Given the description of an element on the screen output the (x, y) to click on. 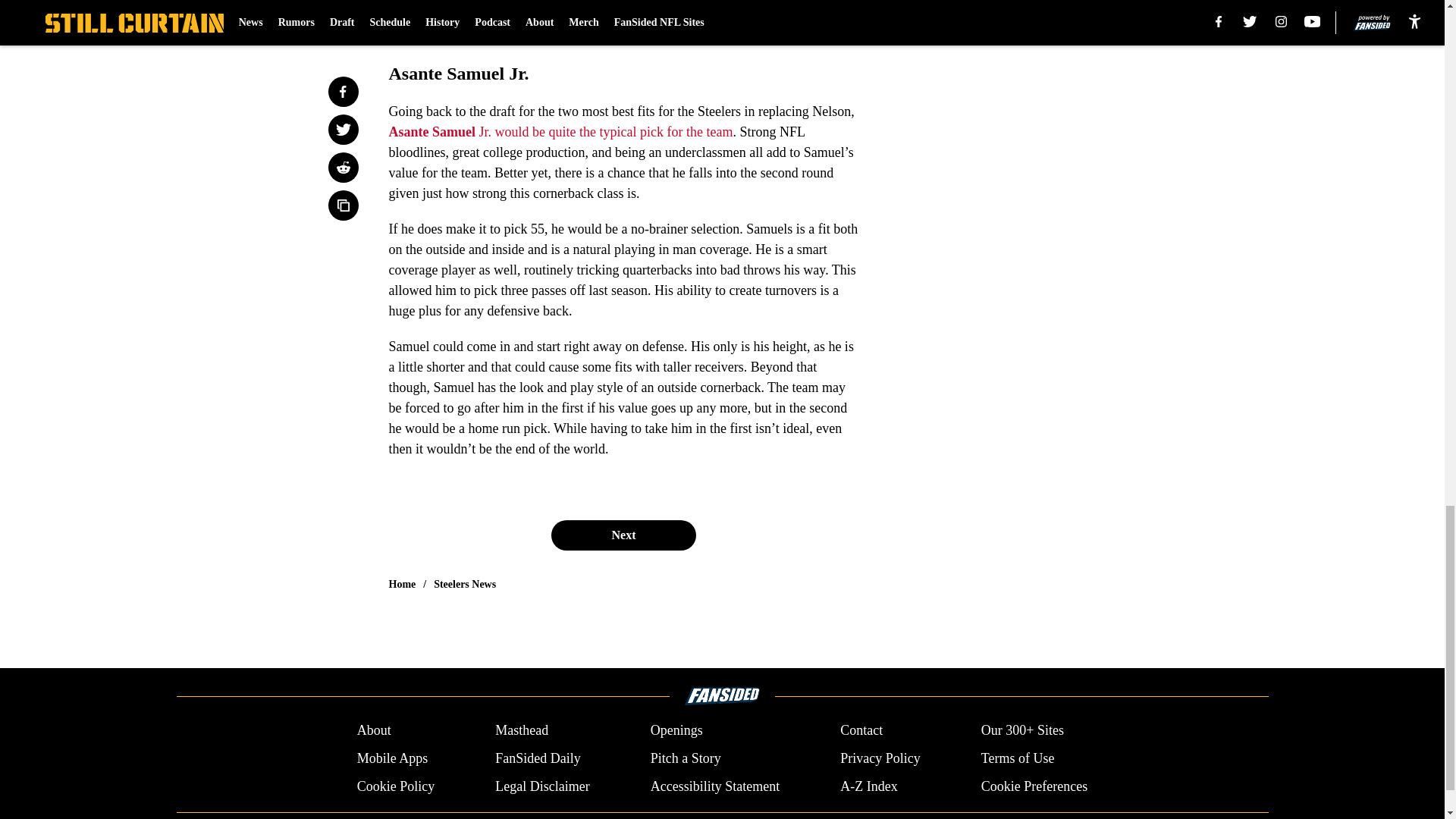
Masthead (521, 730)
Steelers News (464, 584)
Contact (861, 730)
Next (622, 535)
would be quite the typical pick for the team (614, 131)
Openings (676, 730)
Home (401, 584)
About (373, 730)
Asante Samuel Jr. (440, 131)
